Given the description of an element on the screen output the (x, y) to click on. 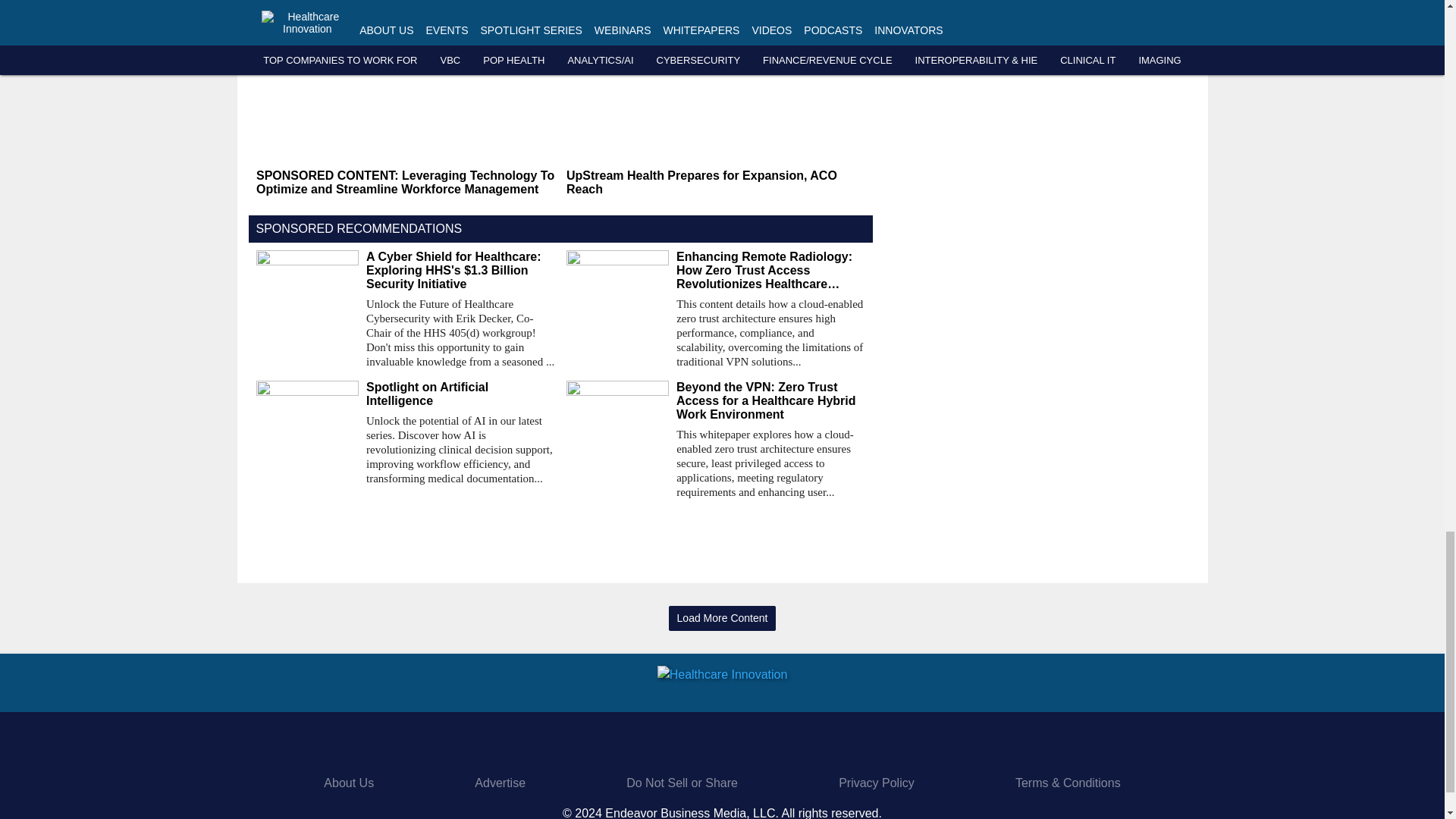
UpStream Health Prepares for Expansion, ACO Reach (715, 182)
Spotlight on Artificial Intelligence (459, 393)
